Given the description of an element on the screen output the (x, y) to click on. 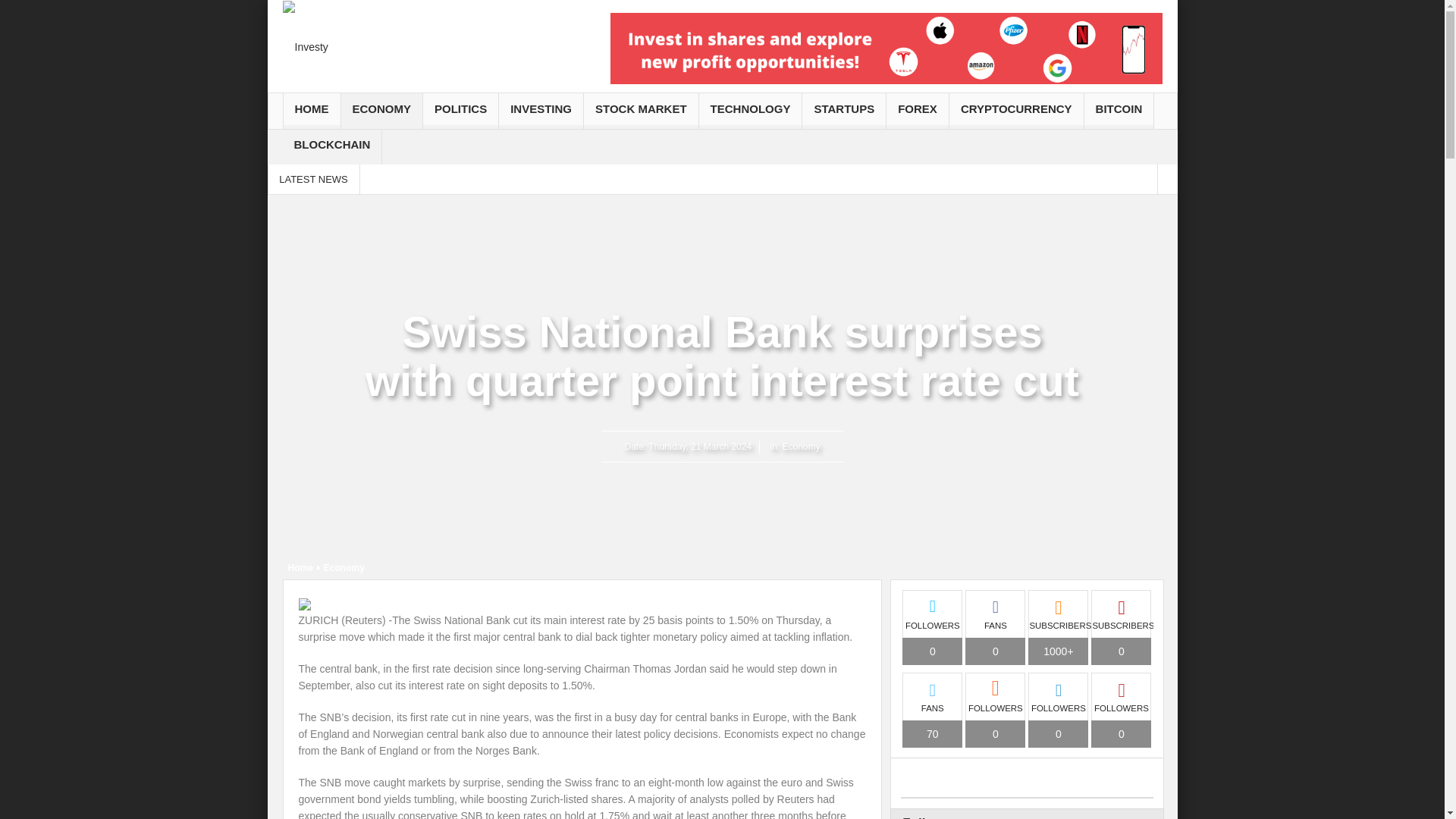
Economy (343, 567)
Why does a CEO matter to a company? (953, 178)
CRYPTOCURRENCY (1016, 110)
ECONOMY (381, 110)
BITCOIN (1119, 110)
INVESTING (541, 110)
TECHNOLOGY (750, 110)
Investy (304, 46)
HOME (311, 110)
POLITICS (460, 110)
